Given the description of an element on the screen output the (x, y) to click on. 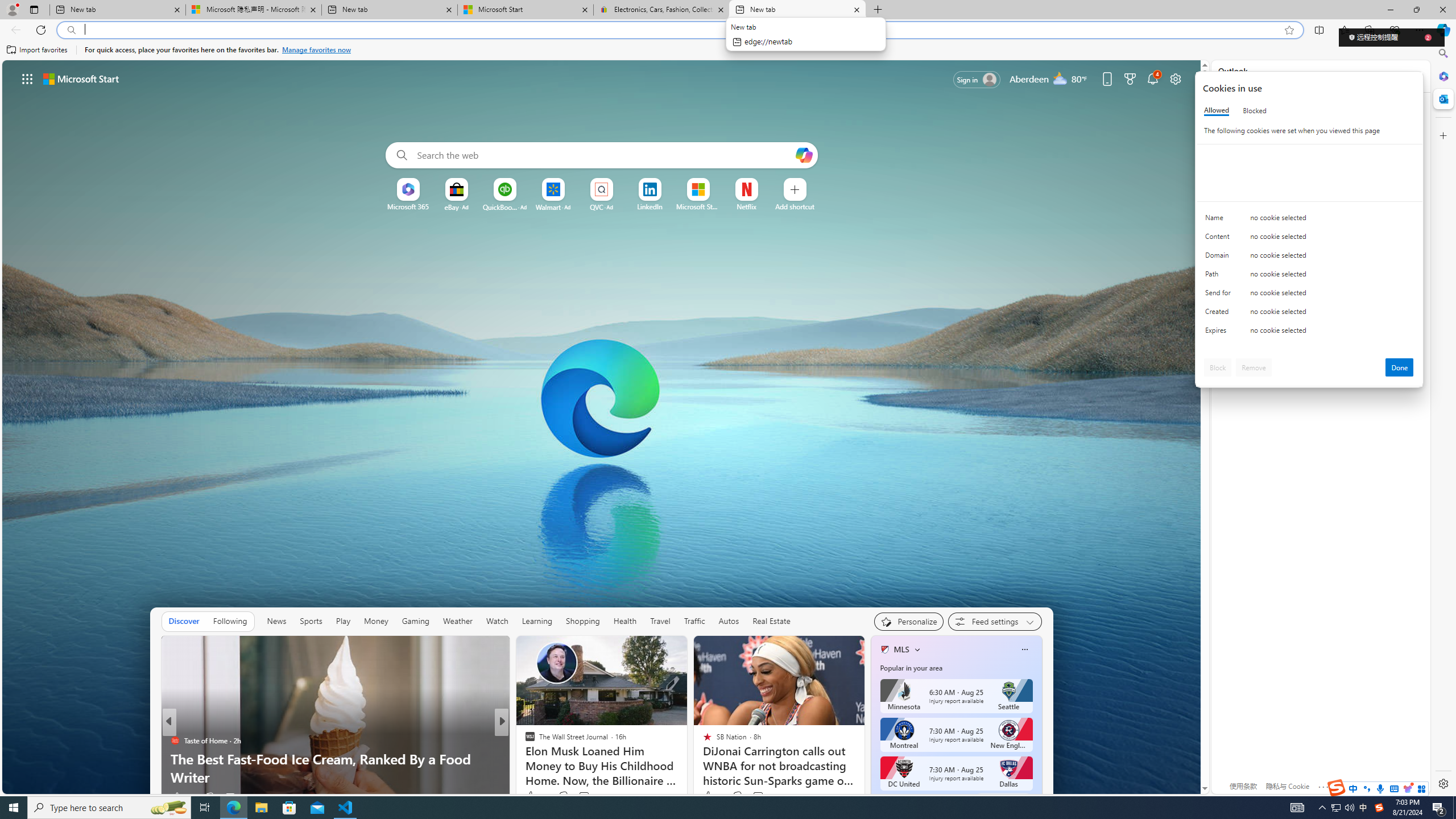
View comments 116 Comment (583, 795)
login.live.com (1246, 81)
Electronics, Cars, Fashion, Collectibles & More | eBay (660, 9)
Start the conversation (576, 797)
View comments 7 Comment (757, 795)
App launcher (27, 78)
Moneywise (524, 740)
View comments 91 Comment (580, 797)
View comments 116 Comment (590, 795)
97 Like (180, 796)
